Given the description of an element on the screen output the (x, y) to click on. 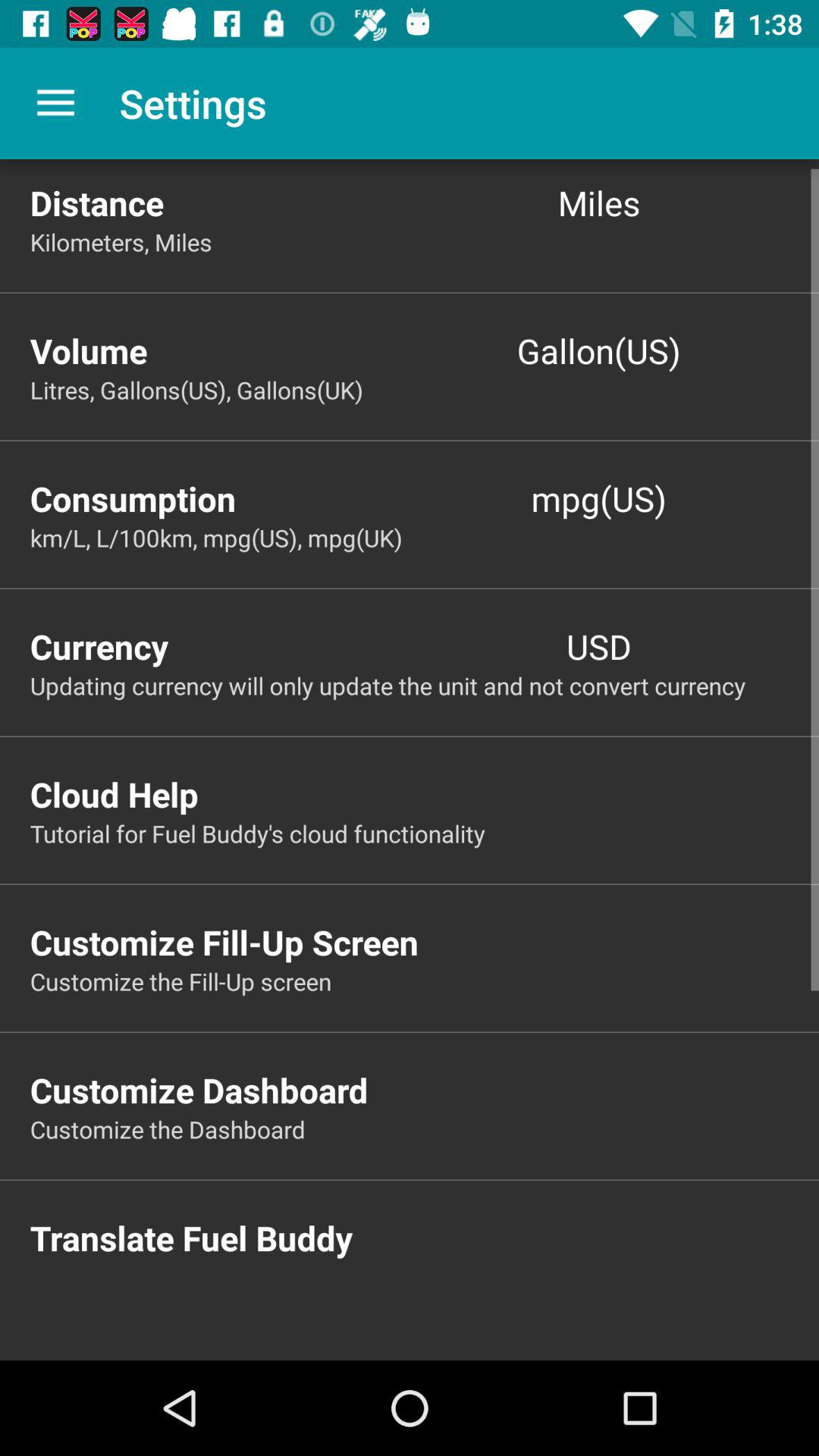
open the item above tutorial for fuel icon (424, 794)
